Given the description of an element on the screen output the (x, y) to click on. 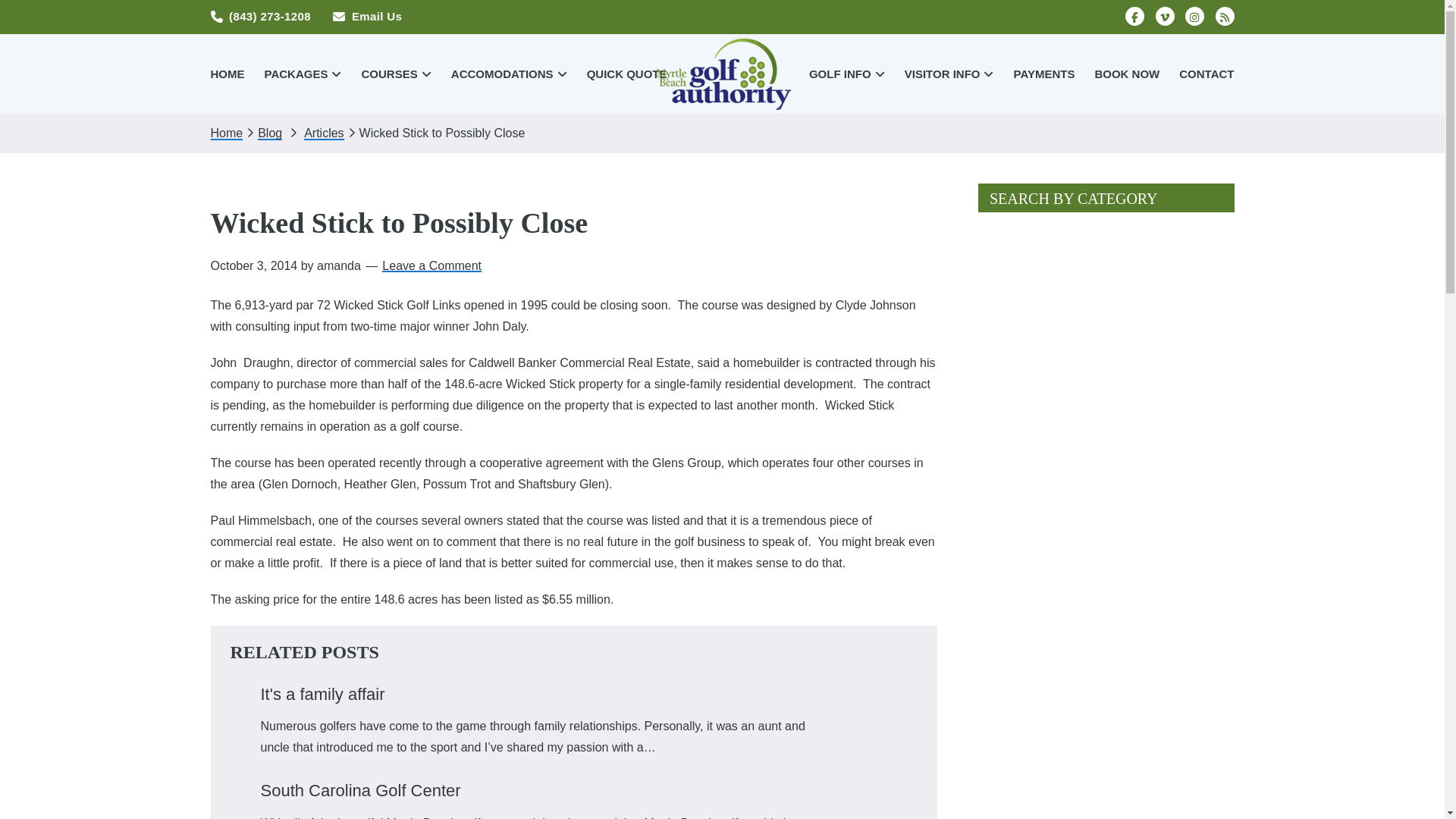
Facebook (1134, 15)
Vimeo (1165, 15)
RSS (1223, 15)
Instagram (1194, 15)
Email Us (367, 15)
Myrtle Beach Golf Authority (721, 73)
